Given the description of an element on the screen output the (x, y) to click on. 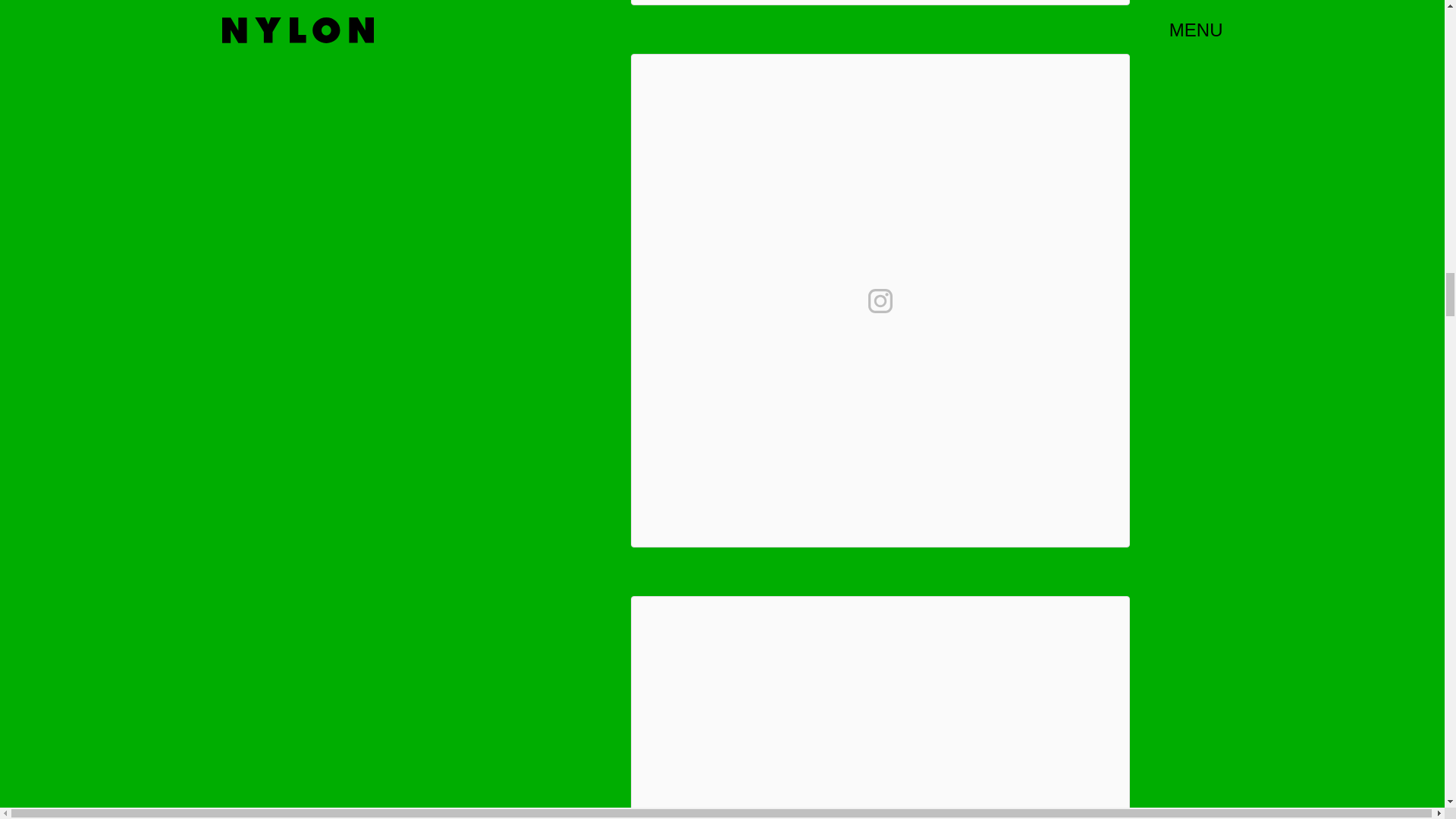
View on Instagram (879, 300)
